Given the description of an element on the screen output the (x, y) to click on. 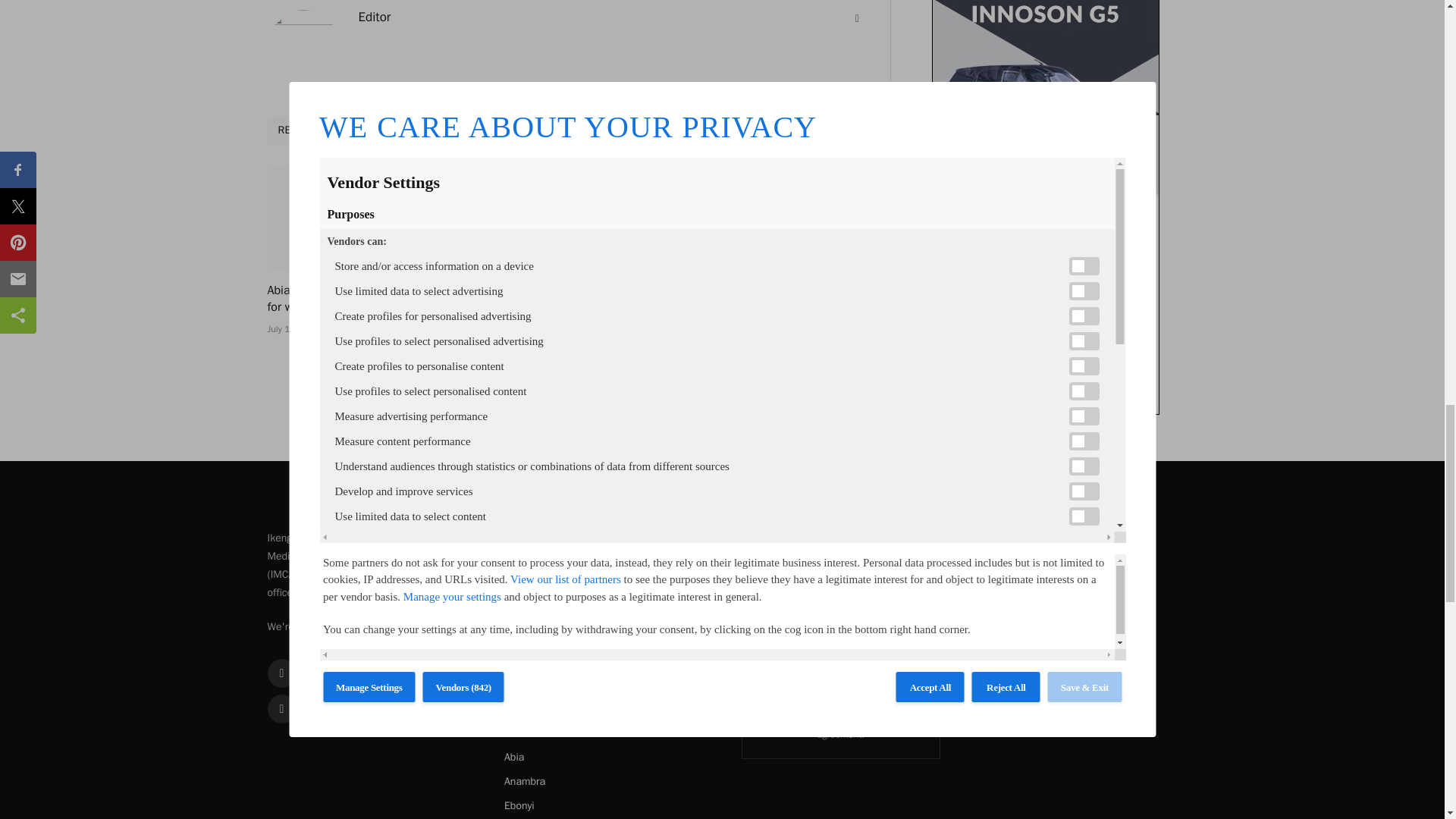
Subscribe (840, 680)
on (767, 717)
